Given the description of an element on the screen output the (x, y) to click on. 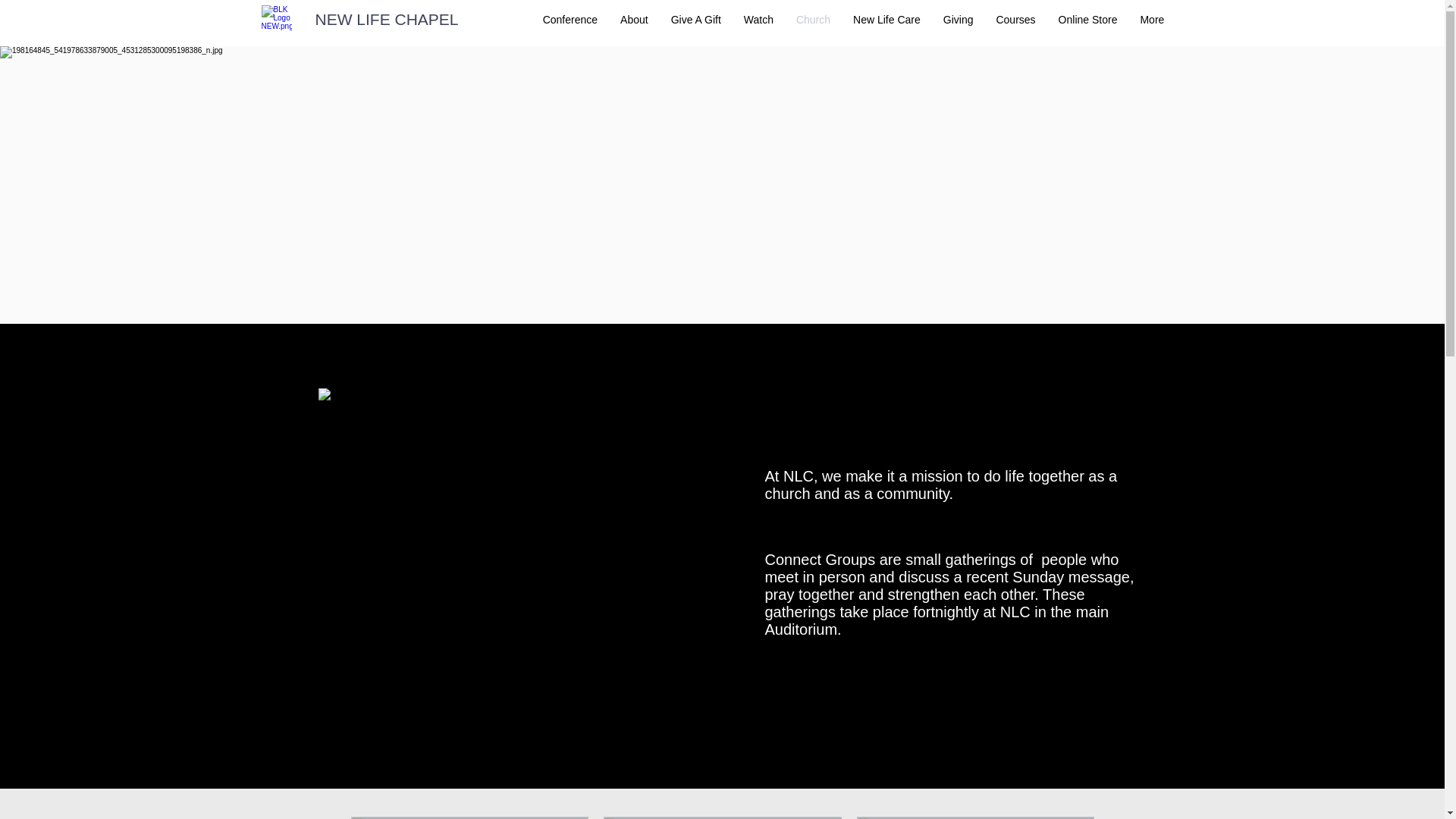
About Element type: text (633, 20)
Watch Element type: text (758, 20)
Courses Element type: text (1015, 20)
NEW LIFE CHAPEL Element type: text (386, 19)
New Life Care Element type: text (886, 20)
Giving Element type: text (958, 20)
Conference Element type: text (569, 20)
Church Element type: text (812, 20)
Give A Gift Element type: text (695, 20)
Online Store Element type: text (1088, 20)
